Given the description of an element on the screen output the (x, y) to click on. 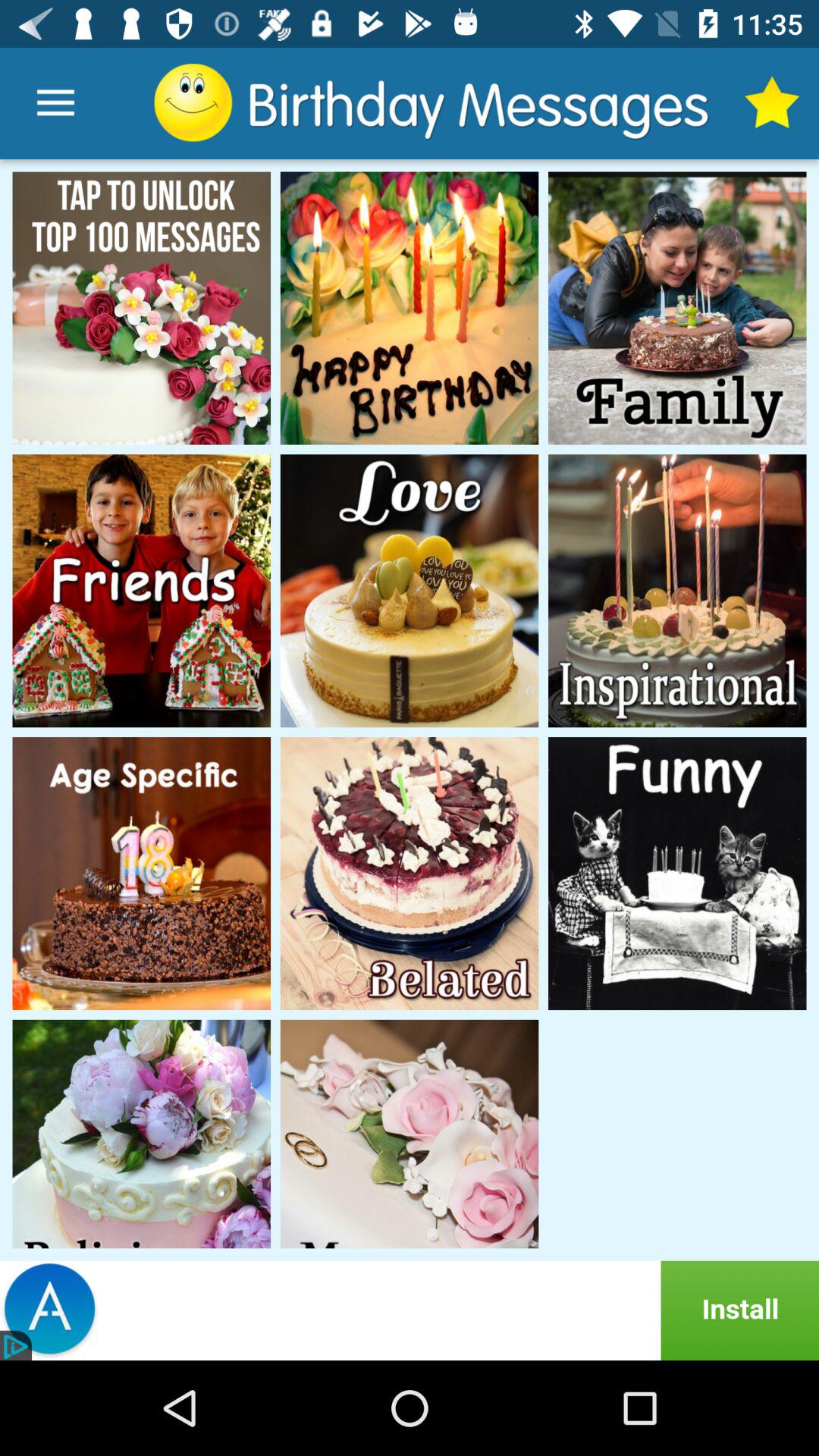
advertisement click (409, 1310)
